Given the description of an element on the screen output the (x, y) to click on. 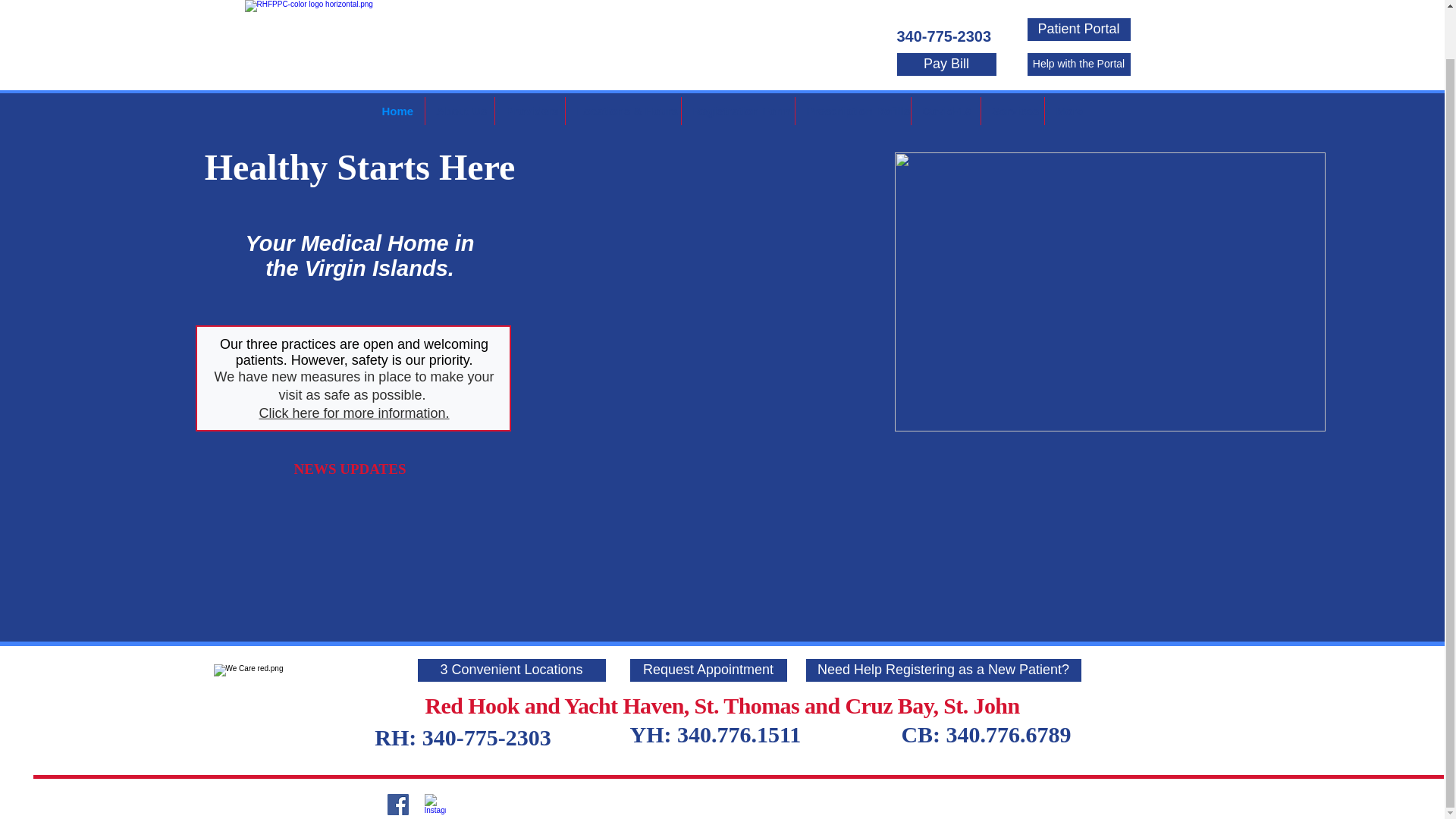
Need Help Registering as a New Patient? (942, 670)
Click here for more information. (353, 412)
NEWS UPDATES (351, 468)
Providers (529, 58)
Covid-19 (945, 58)
Request Appointment (707, 670)
Help with the Portal (1077, 11)
About Us (459, 58)
3 Convenient Locations (510, 670)
Registration Form (737, 58)
